Given the description of an element on the screen output the (x, y) to click on. 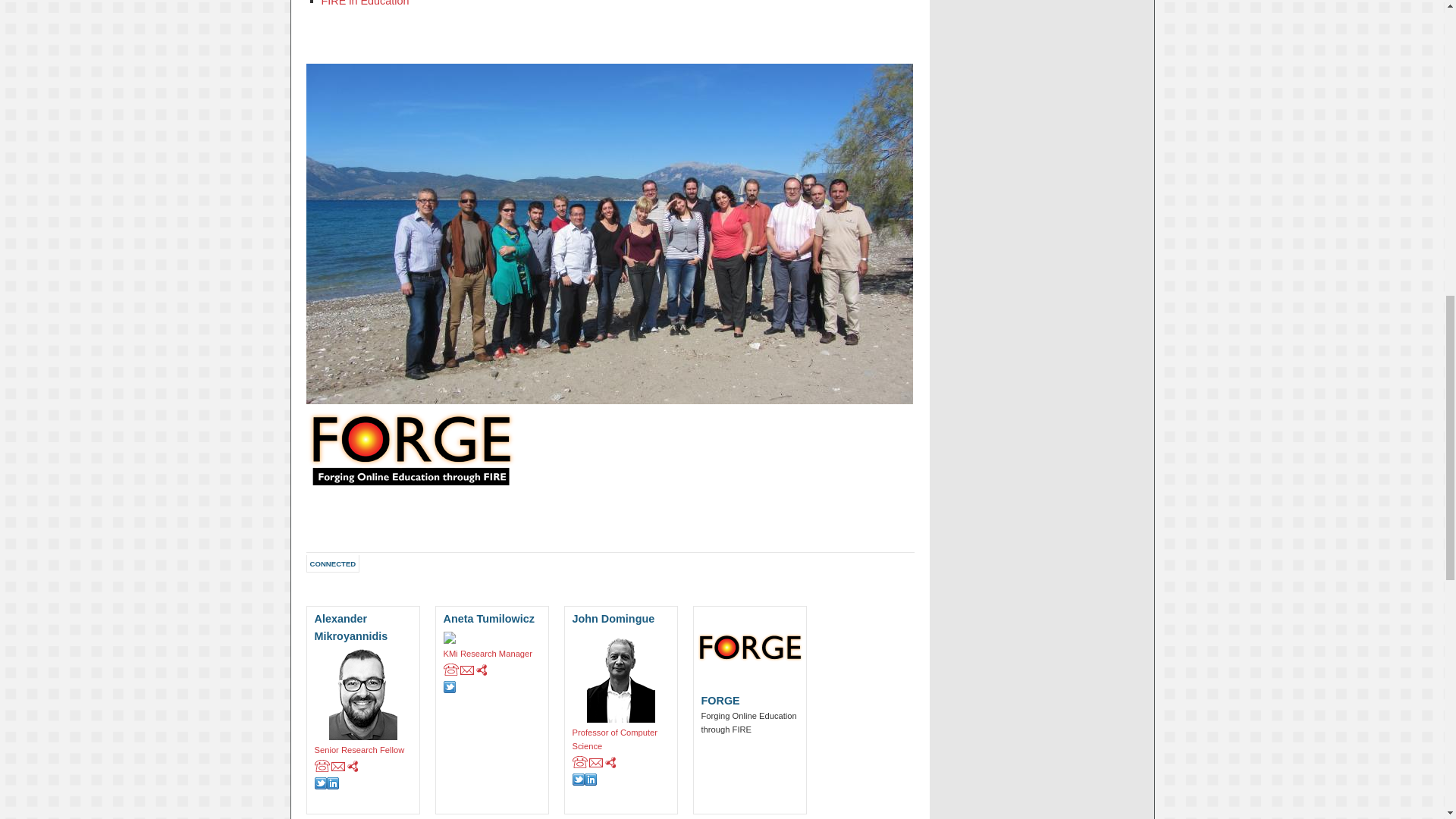
FIRE in Education (365, 3)
Aneta Tumilowicz (491, 628)
Senior Research Fellow (362, 758)
KMi Research Manager (491, 662)
Professor of Computer Science (620, 748)
